Given the description of an element on the screen output the (x, y) to click on. 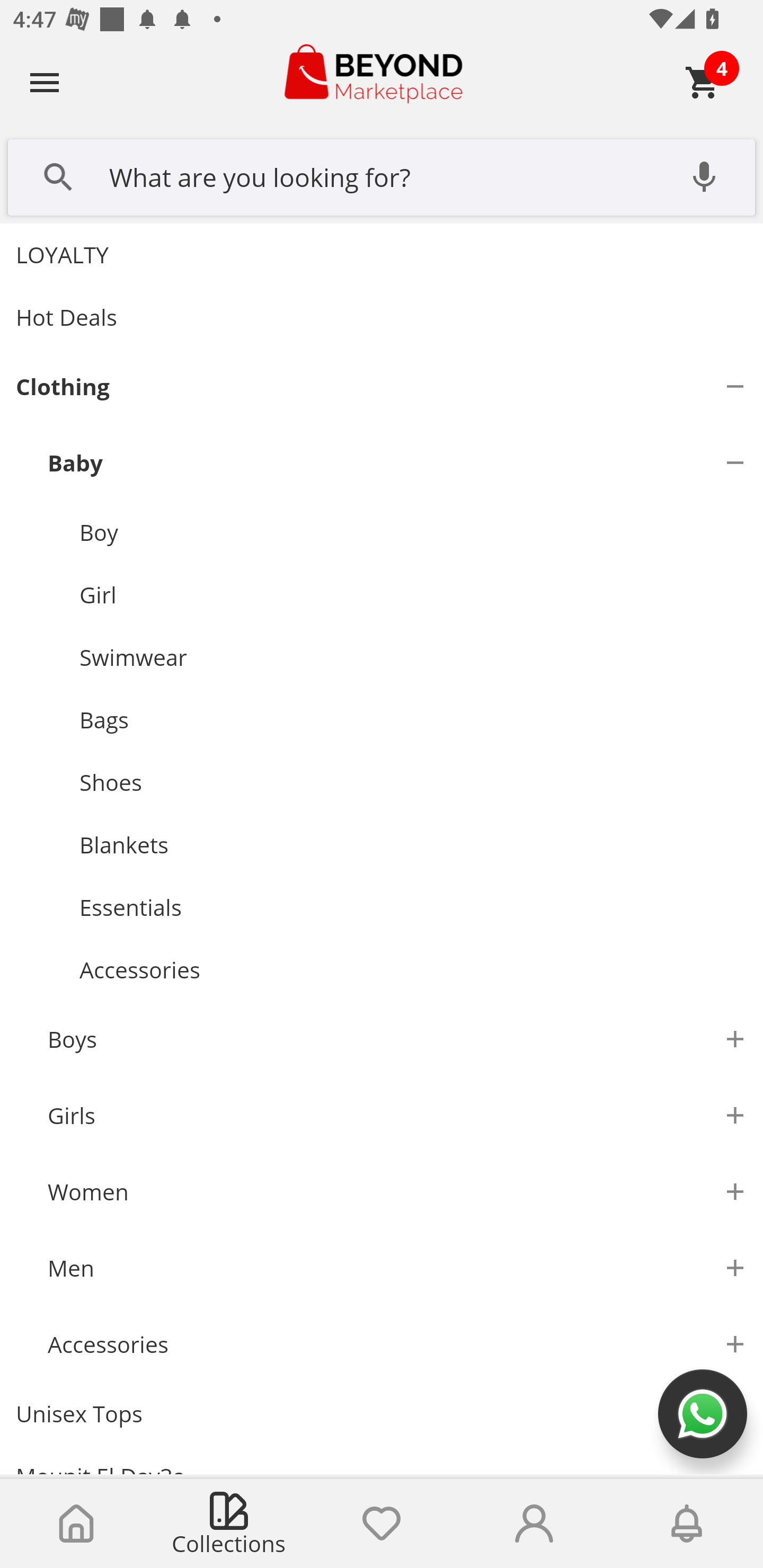
Navigate up (44, 82)
What are you looking for? (381, 175)
LOYALTY (381, 254)
Hot Deals (381, 316)
Boy (413, 531)
Girl (413, 593)
Swimwear (413, 656)
Bags (413, 719)
Shoes (413, 782)
Blankets (413, 844)
Essentials (413, 907)
Accessories (413, 970)
Boys (397, 1039)
Girls (397, 1115)
Women (397, 1191)
Men (397, 1267)
Accessories (397, 1344)
Unisex Tops (381, 1413)
Home (76, 1523)
Wishlist (381, 1523)
Account (533, 1523)
Notifications (686, 1523)
